Given the description of an element on the screen output the (x, y) to click on. 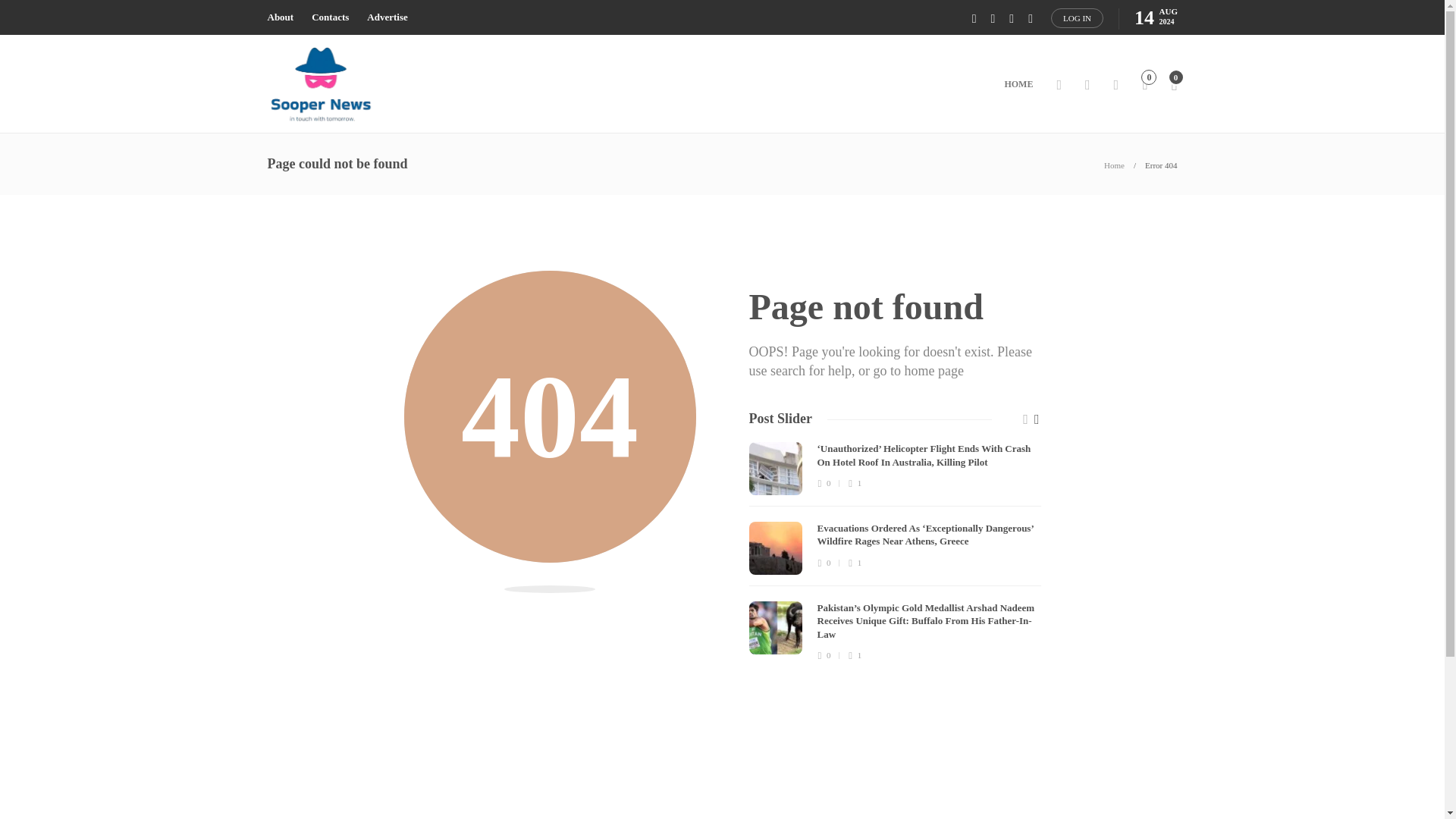
Home (1113, 164)
Contacts (330, 17)
LOG IN (1077, 17)
Advertise (386, 17)
